Given the description of an element on the screen output the (x, y) to click on. 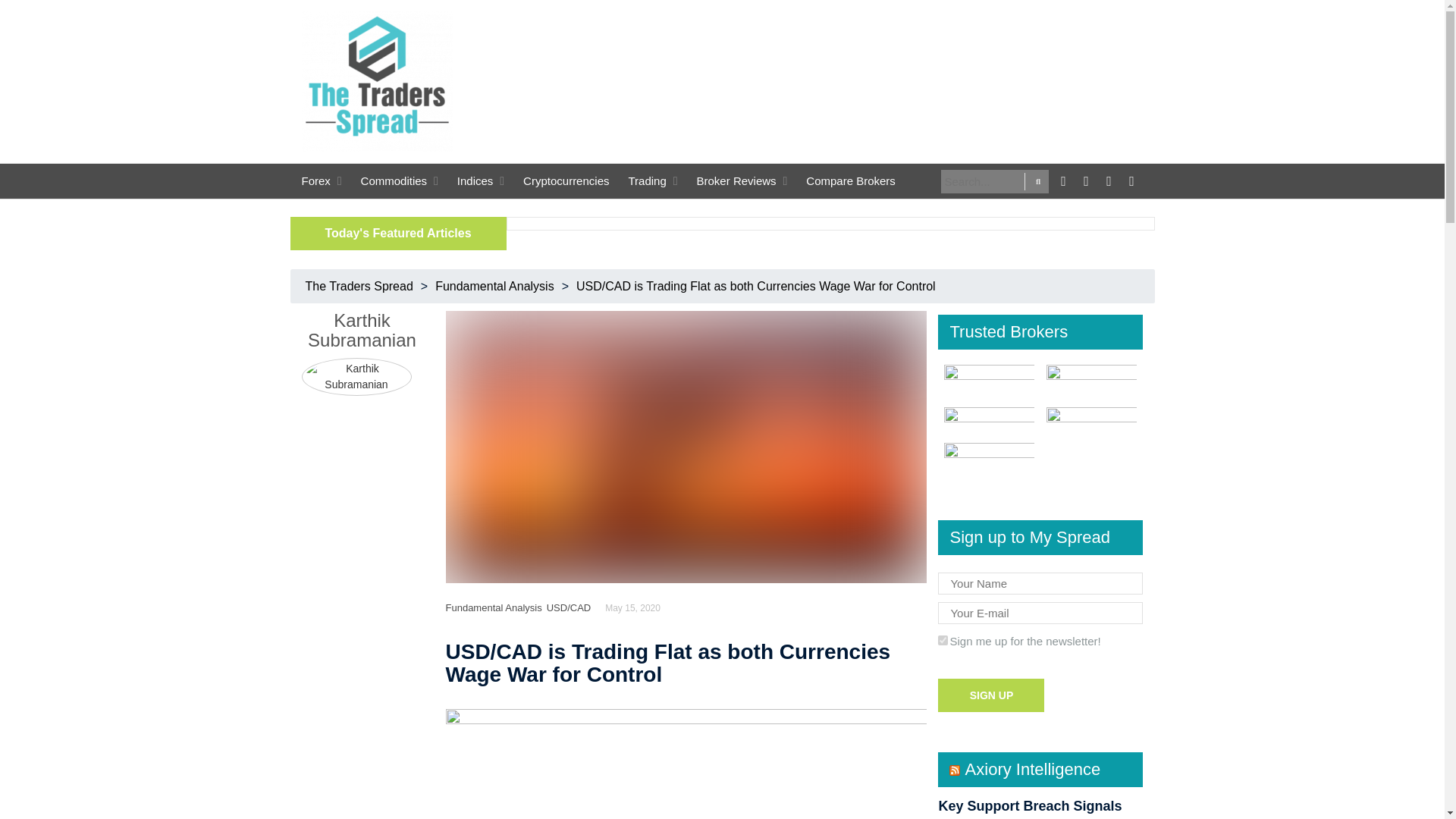
1 (942, 640)
Trading (646, 185)
LinkedIn (1108, 178)
Cryptocurrencies (565, 185)
Twitter (1085, 178)
Go to The Traders Spread. (358, 286)
Sign Up (990, 694)
Telegram (1131, 178)
Go to the Fundamental Analysis category archives. (493, 286)
Indices (475, 185)
fxopen-logo (988, 458)
Facebook (1063, 178)
Broker Reviews (736, 185)
Forex (315, 185)
vantagefx-1 (988, 417)
